Given the description of an element on the screen output the (x, y) to click on. 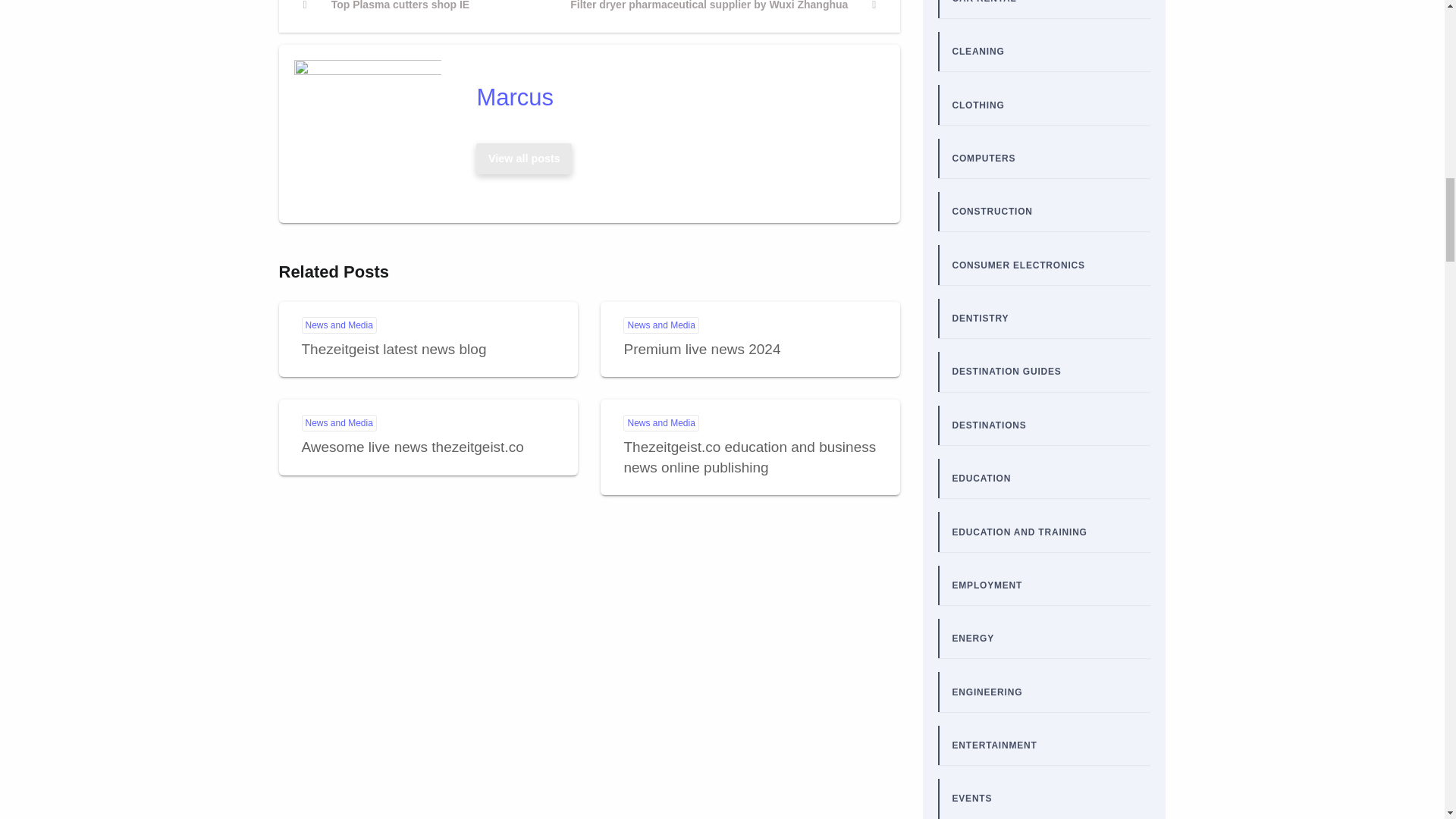
News and Media (660, 422)
Marcus (674, 97)
View all posts (523, 158)
News and Media (660, 324)
Awesome live news thezeitgeist.co (412, 446)
News and Media (339, 324)
Marcus (674, 97)
Thezeitgeist latest news blog (387, 15)
